Given the description of an element on the screen output the (x, y) to click on. 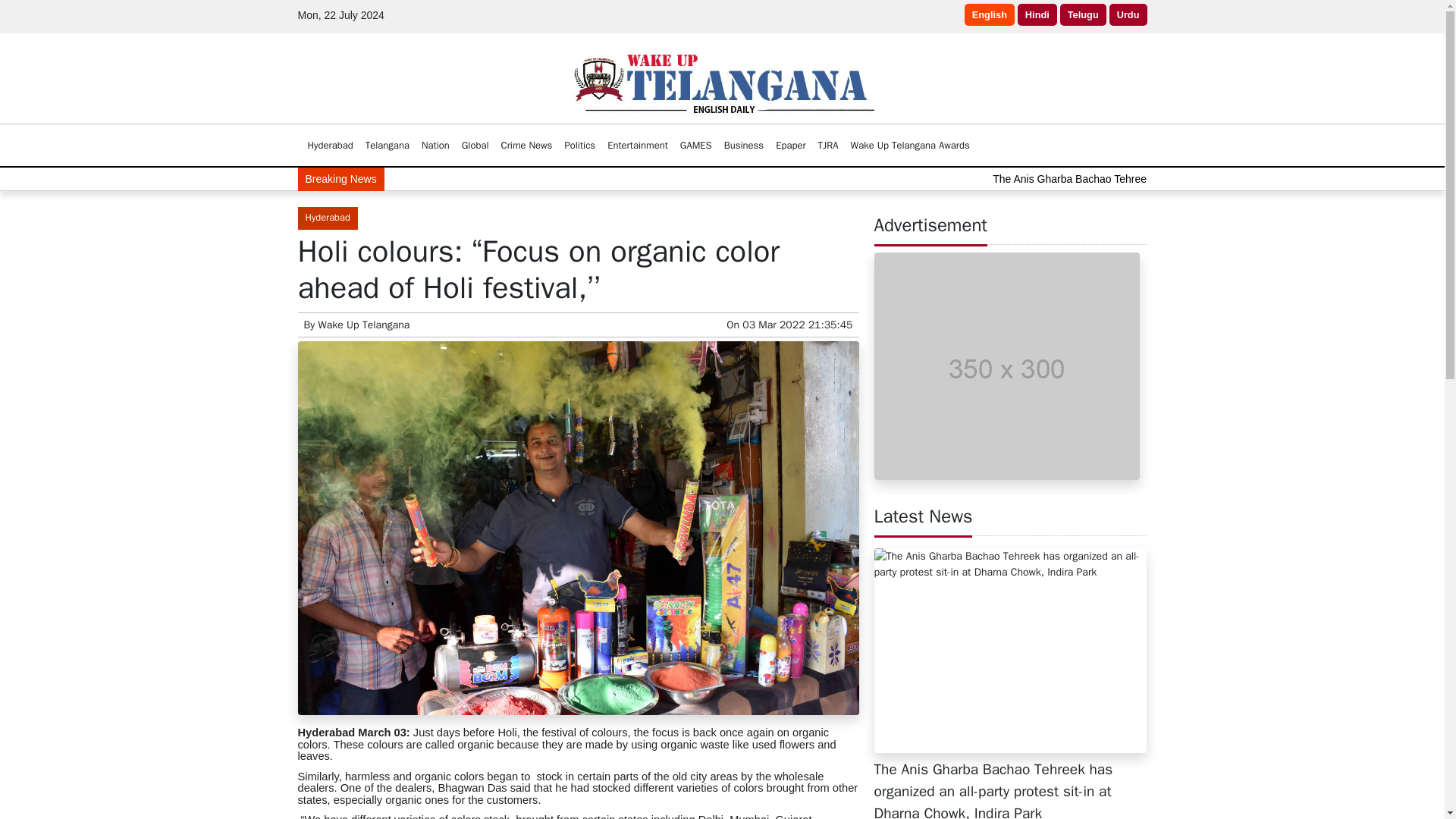
Hindi (1037, 14)
Urdu (1128, 14)
Wake Up Telangana Awards (909, 144)
Entertainment (637, 144)
Telangana (386, 144)
English (988, 14)
TJRA (828, 144)
Crime News (527, 144)
Global (475, 144)
Hyderabad (330, 144)
Epaper (790, 144)
Politics (579, 144)
Nation (434, 144)
Telugu (1082, 14)
GAMES (695, 144)
